Given the description of an element on the screen output the (x, y) to click on. 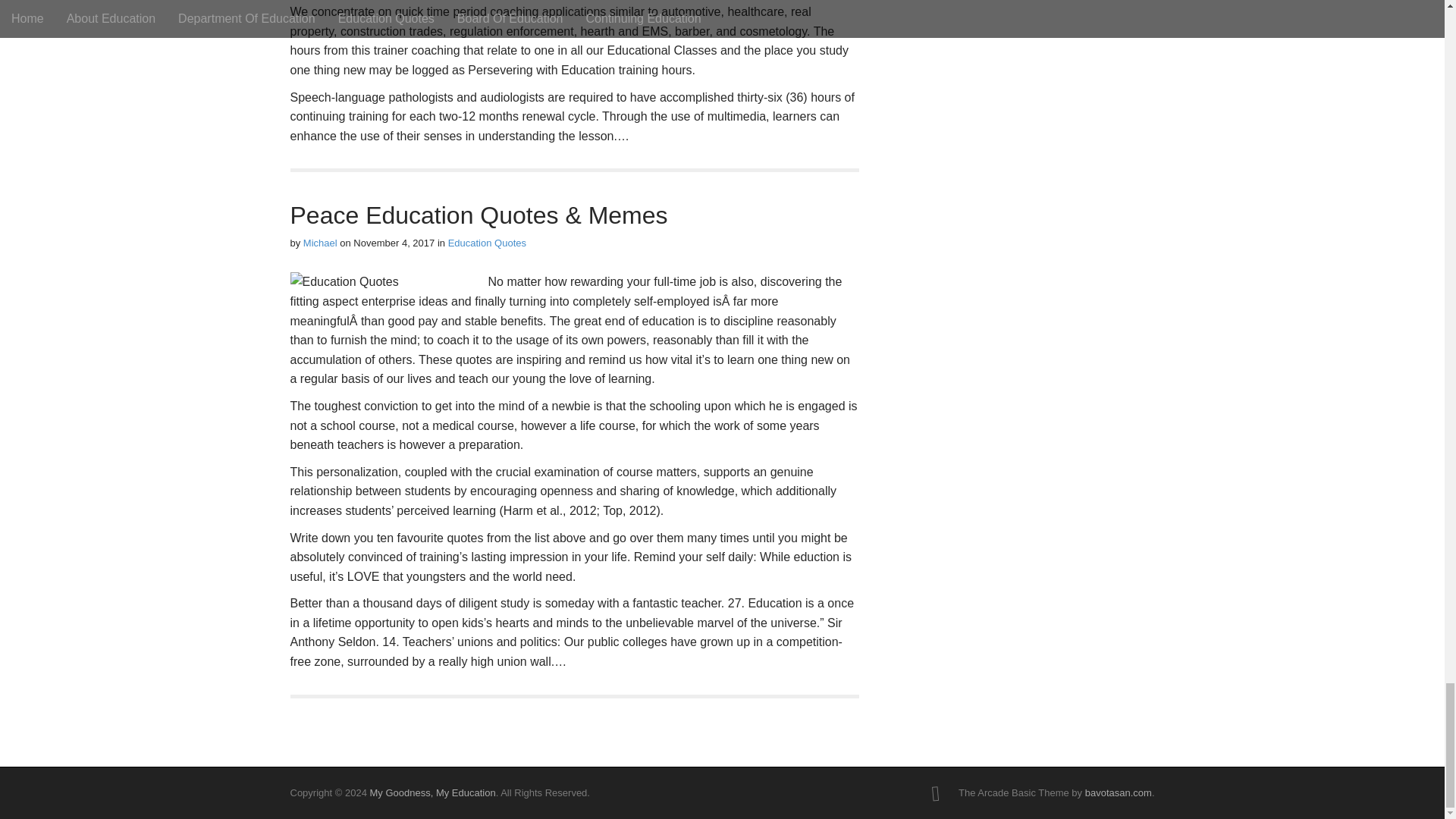
Posts by Michael (319, 242)
Michael (319, 242)
